Given the description of an element on the screen output the (x, y) to click on. 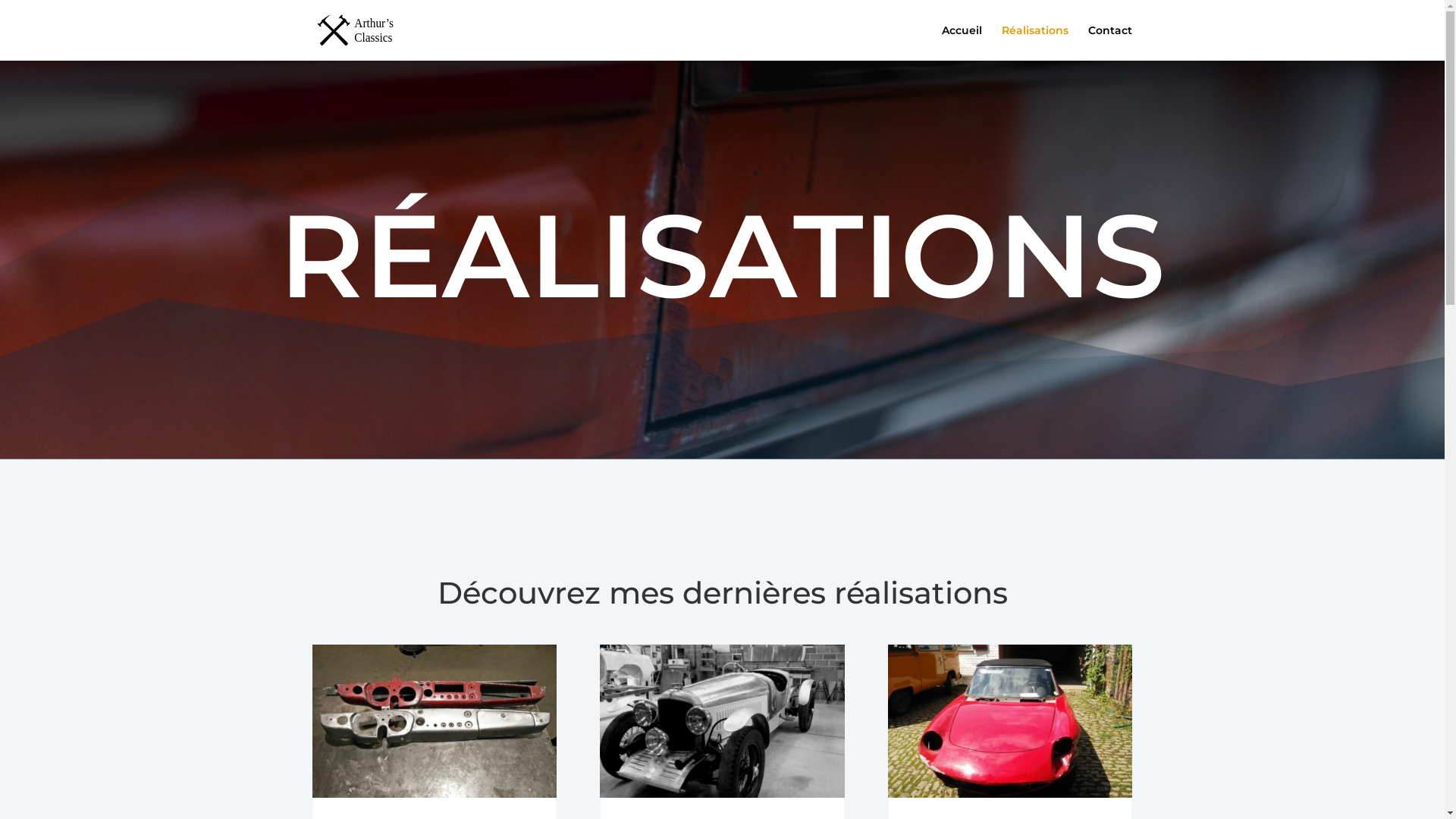
Contact Element type: text (1109, 42)
Accueil Element type: text (961, 42)
